Given the description of an element on the screen output the (x, y) to click on. 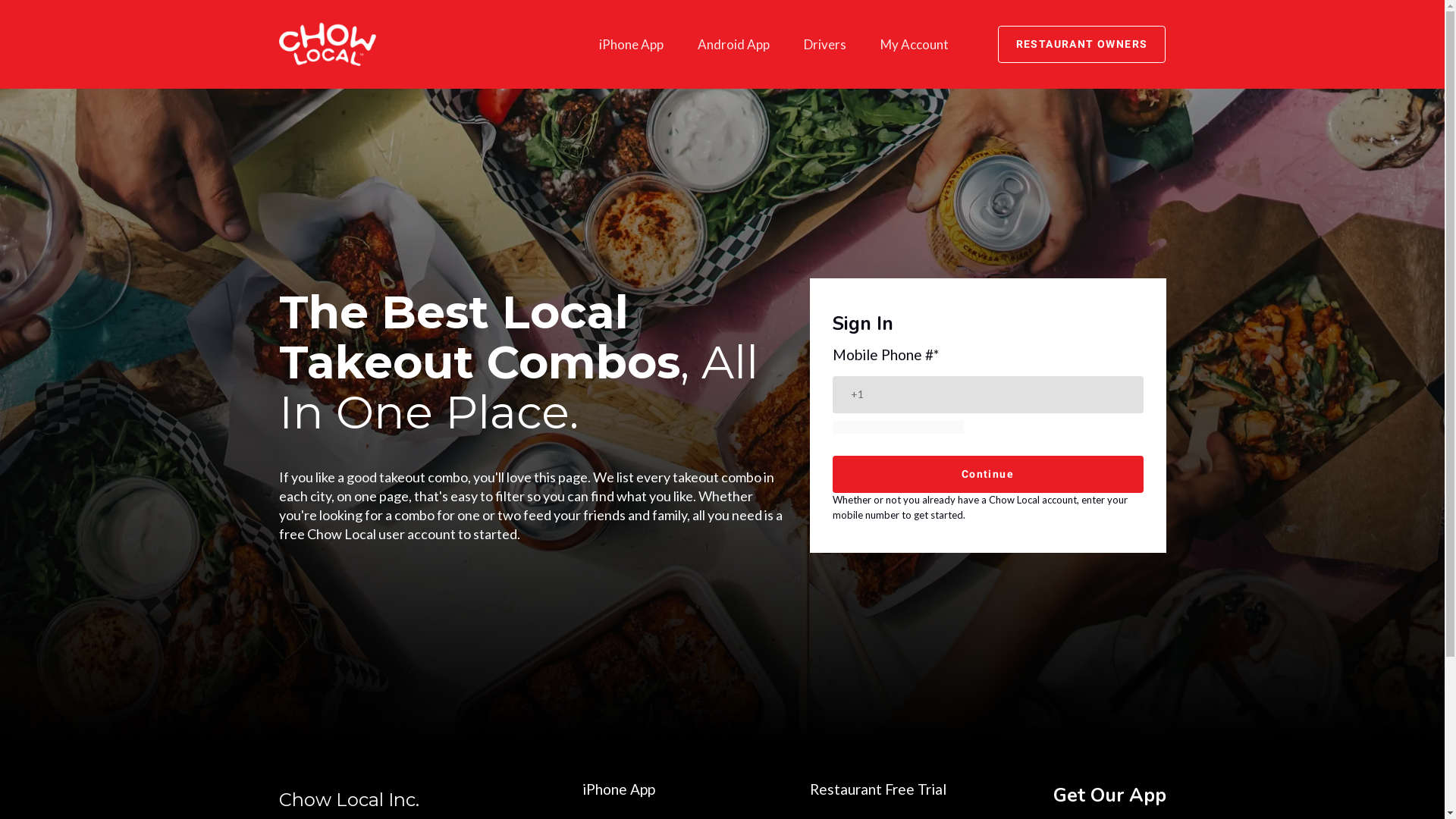
Continue (987, 474)
Drivers (824, 44)
Restaurant Free Trial (877, 788)
RESTAURANT OWNERS (1081, 44)
My Account (914, 44)
Chow Local Inc. (419, 797)
iPhone App (618, 788)
Android App (733, 44)
iPhone App (630, 44)
